Given the description of an element on the screen output the (x, y) to click on. 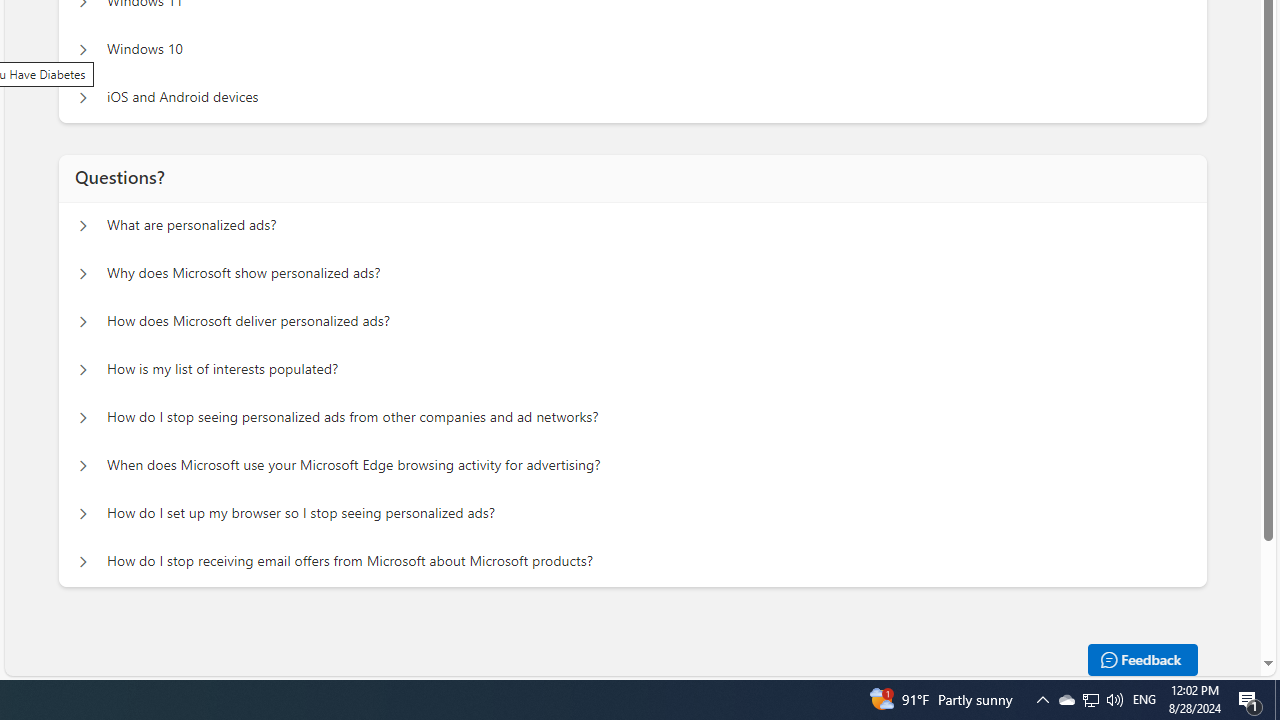
Questions? Why does Microsoft show personalized ads? (82, 273)
